Given the description of an element on the screen output the (x, y) to click on. 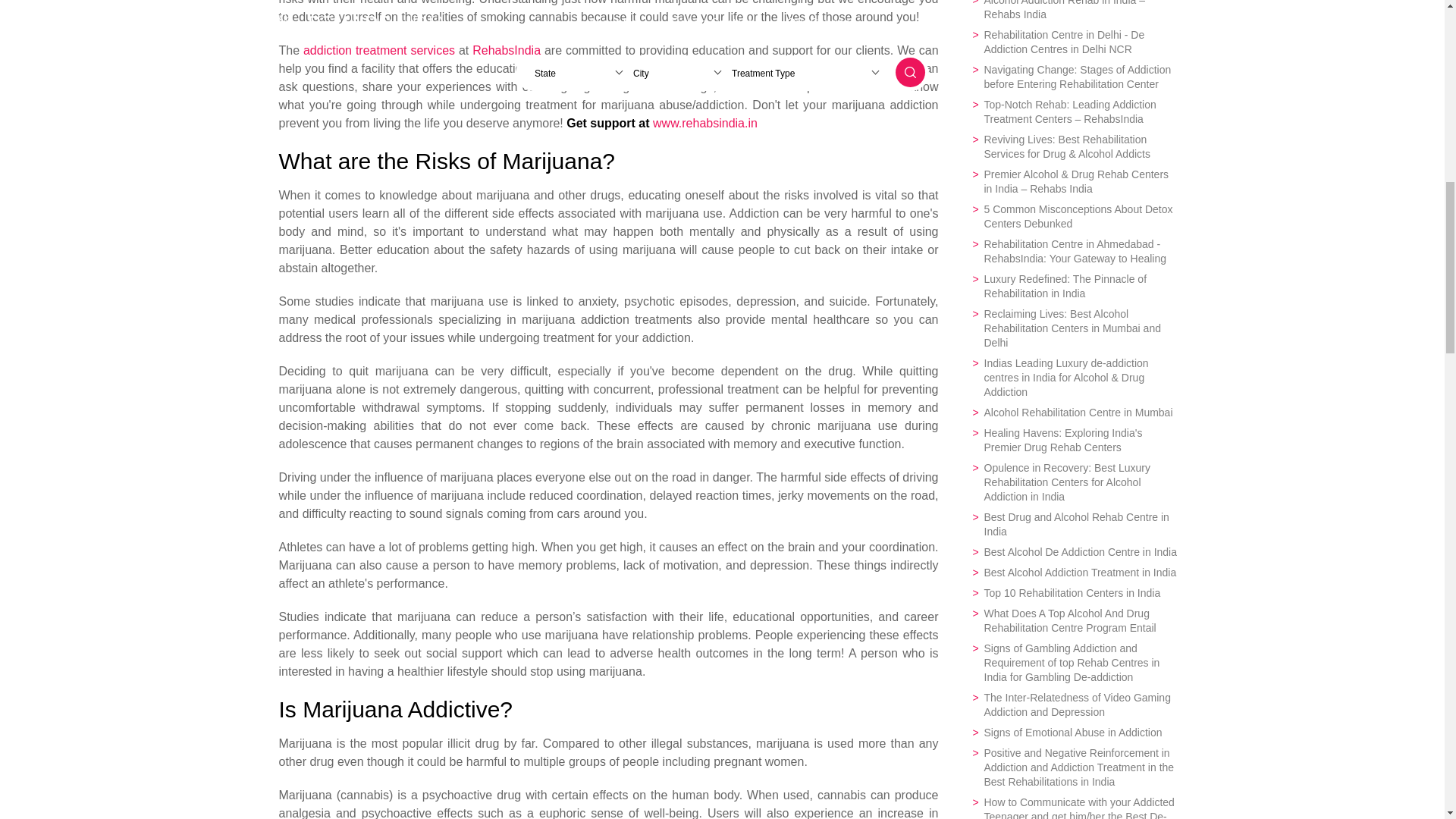
Best Drug and Alcohol Rehab Centre in India (1073, 524)
Alcohol Rehabilitation Centre in Mumbai (1073, 412)
RehabsIndia (505, 50)
www.rehabsindia.in (704, 123)
Luxury Redefined: The Pinnacle of Rehabilitation in India (1073, 286)
addiction treatment services (378, 50)
Healing Havens: Exploring India's Premier Drug Rehab Centers (1073, 440)
5 Common Misconceptions About Detox Centers Debunked (1073, 216)
